Given the description of an element on the screen output the (x, y) to click on. 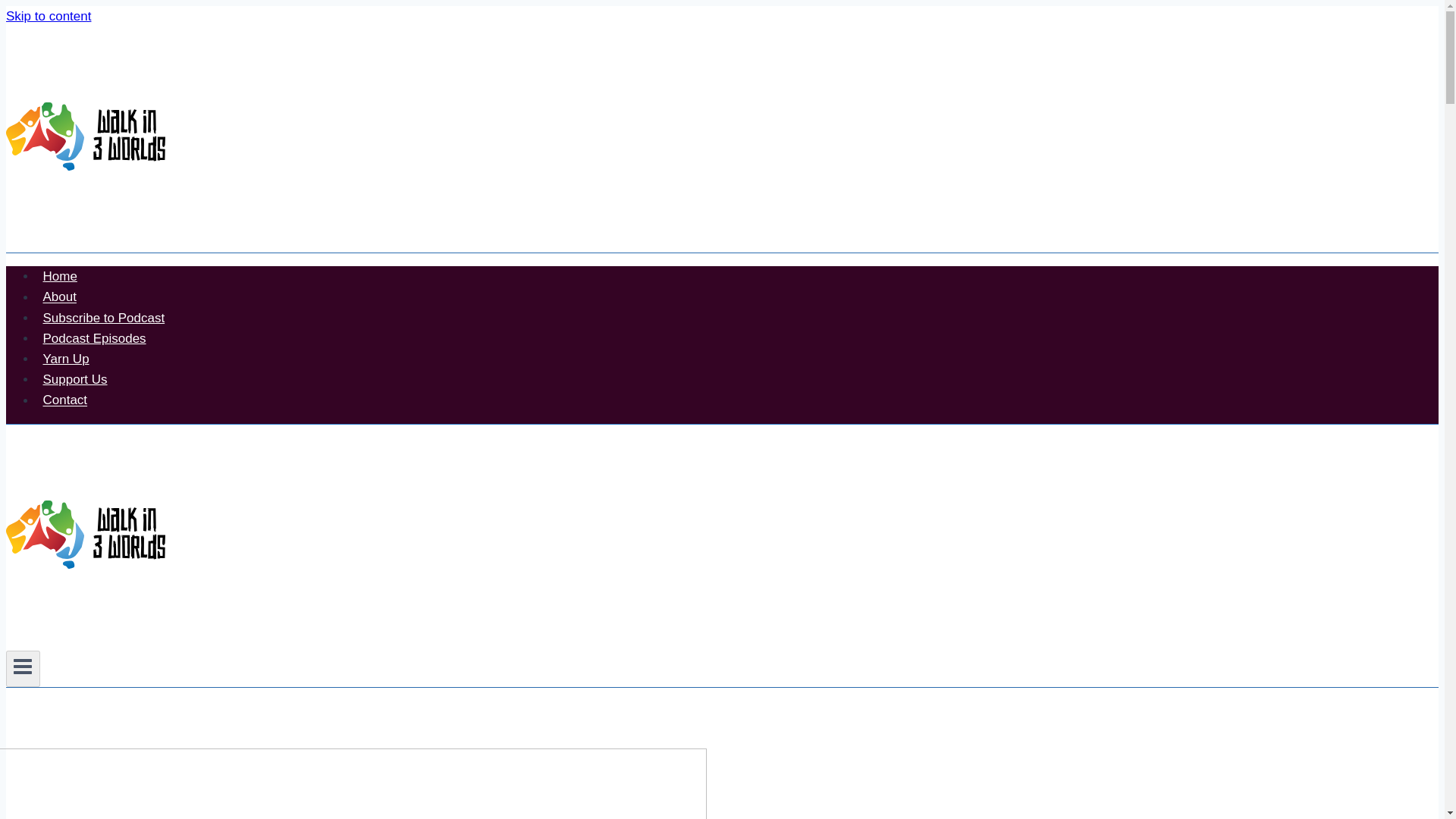
Yarn Up (66, 358)
Subscribe to Podcast (103, 317)
Skip to content (47, 16)
Podcast Episodes (94, 337)
Toggle Menu (22, 668)
Skip to content (47, 16)
Toggle Menu (22, 666)
Contact (65, 399)
Home (59, 276)
About (59, 296)
Support Us (74, 378)
